Given the description of an element on the screen output the (x, y) to click on. 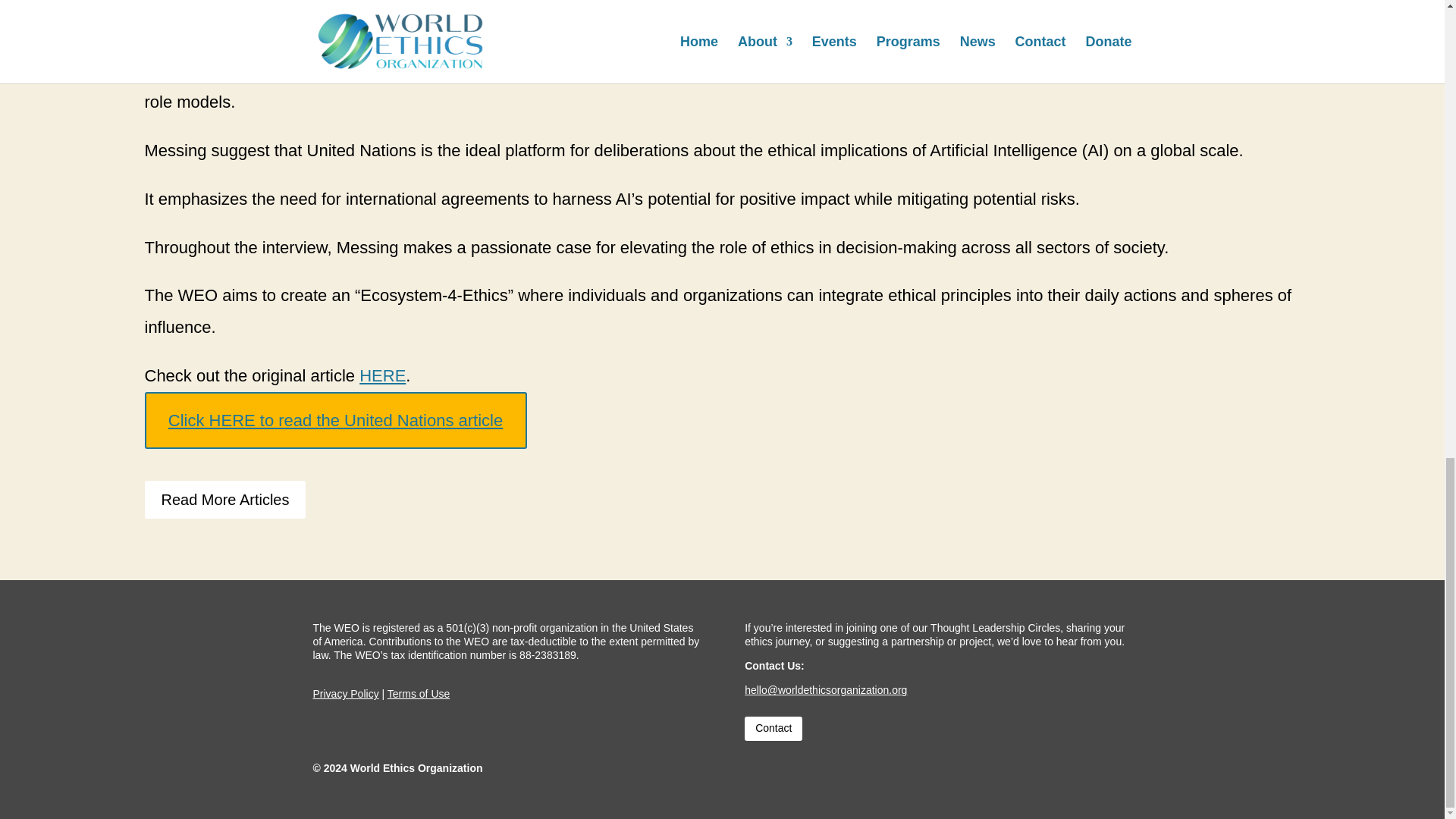
Contact (773, 728)
Privacy Policy (345, 693)
Click HERE to read the United Nations article (334, 420)
HERE (382, 375)
Terms of Use (418, 693)
Read More Articles (224, 499)
